Given the description of an element on the screen output the (x, y) to click on. 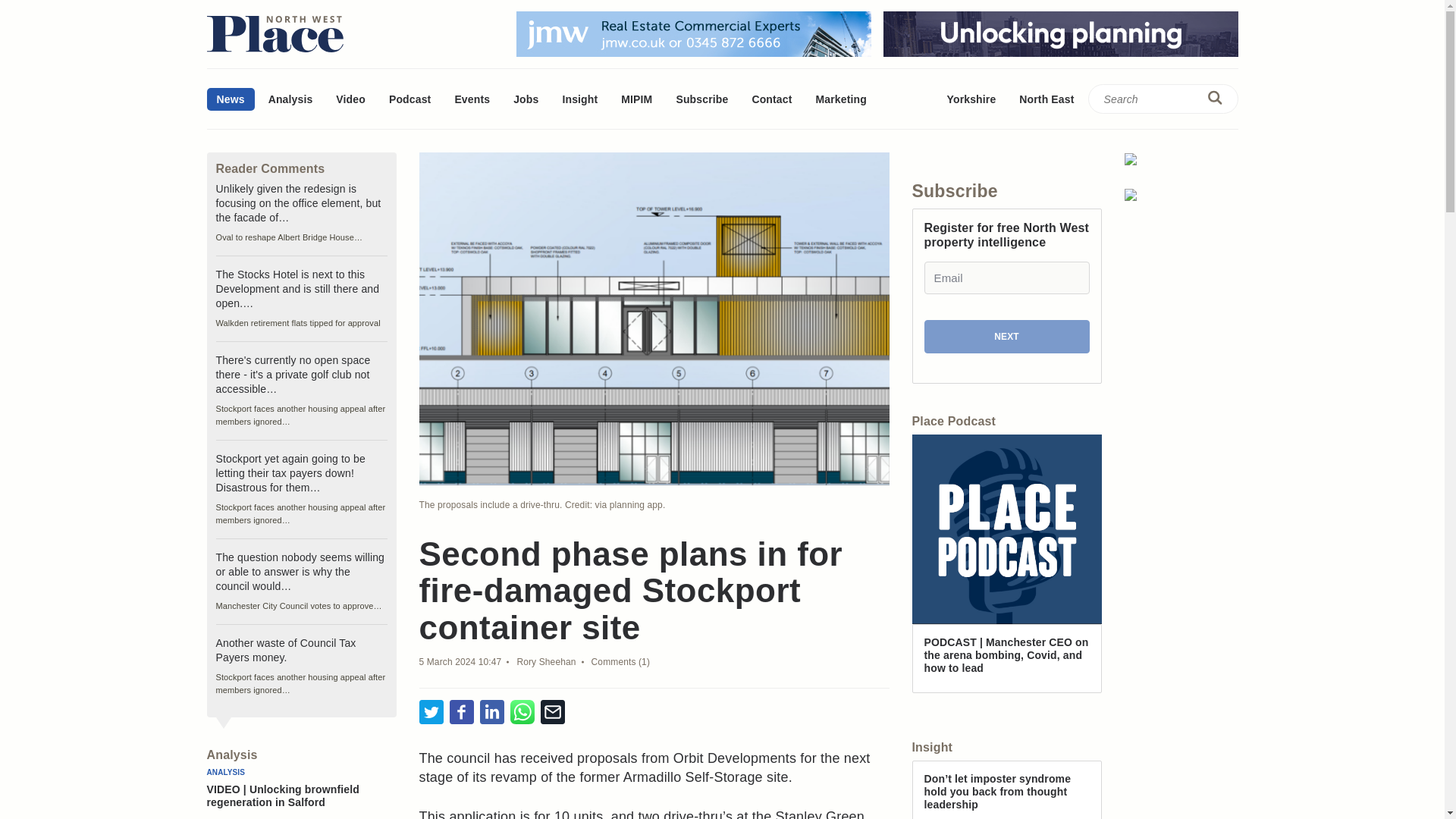
Marketing (840, 98)
Share on LinkedIn (491, 713)
Analysis (291, 98)
Jobs (525, 98)
Share on Facebook (460, 713)
Share on Twiiter (430, 713)
MIPIM (636, 98)
Share on WhatsApp (521, 713)
Events (471, 98)
Podcast (409, 98)
